Given the description of an element on the screen output the (x, y) to click on. 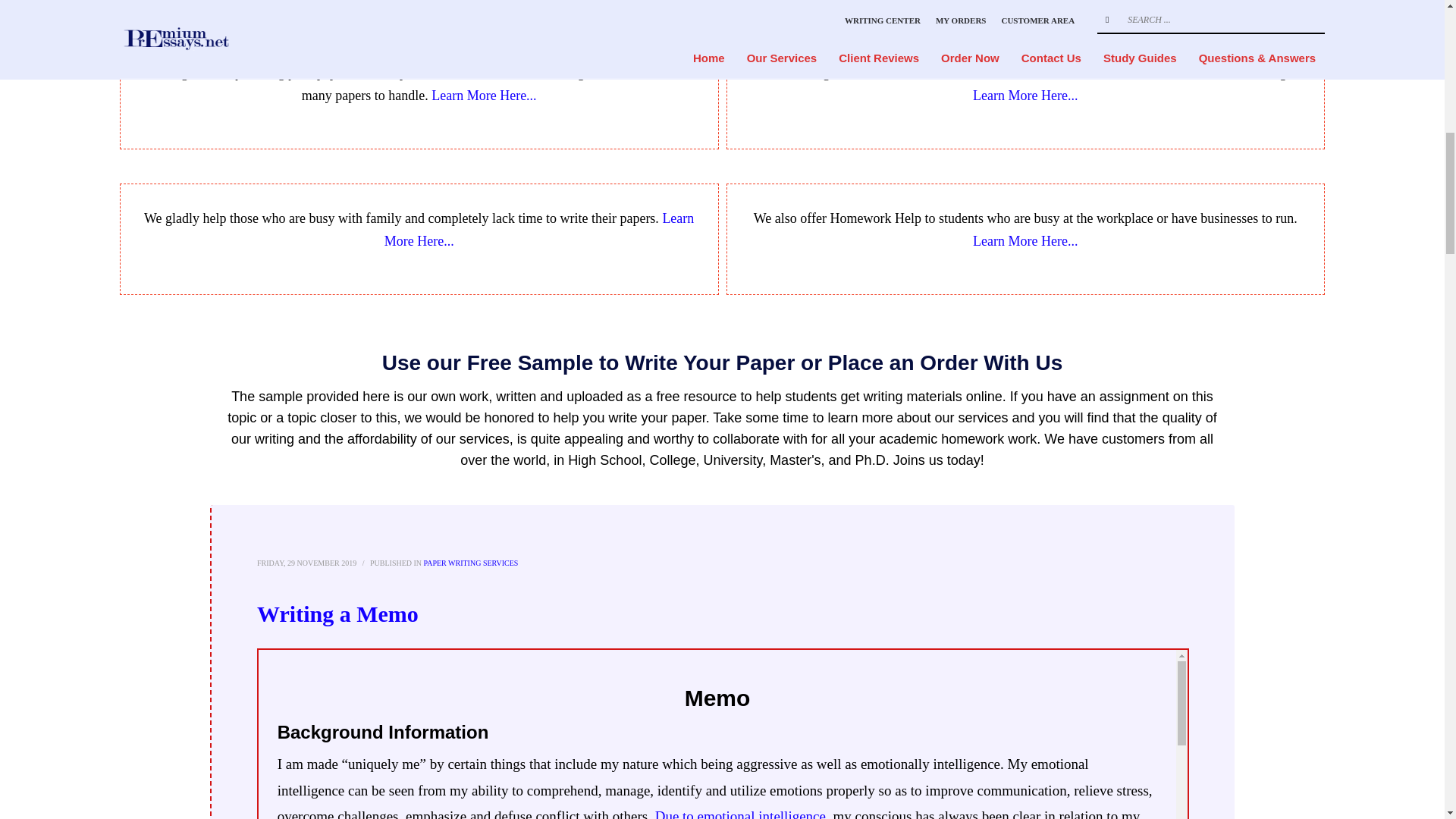
Learn More Here... (1024, 95)
Learn More Here... (539, 229)
PAPER WRITING SERVICES (470, 562)
Due to emotional intelligence (737, 813)
Learn More Here... (482, 95)
Learn More Here... (1024, 240)
